Given the description of an element on the screen output the (x, y) to click on. 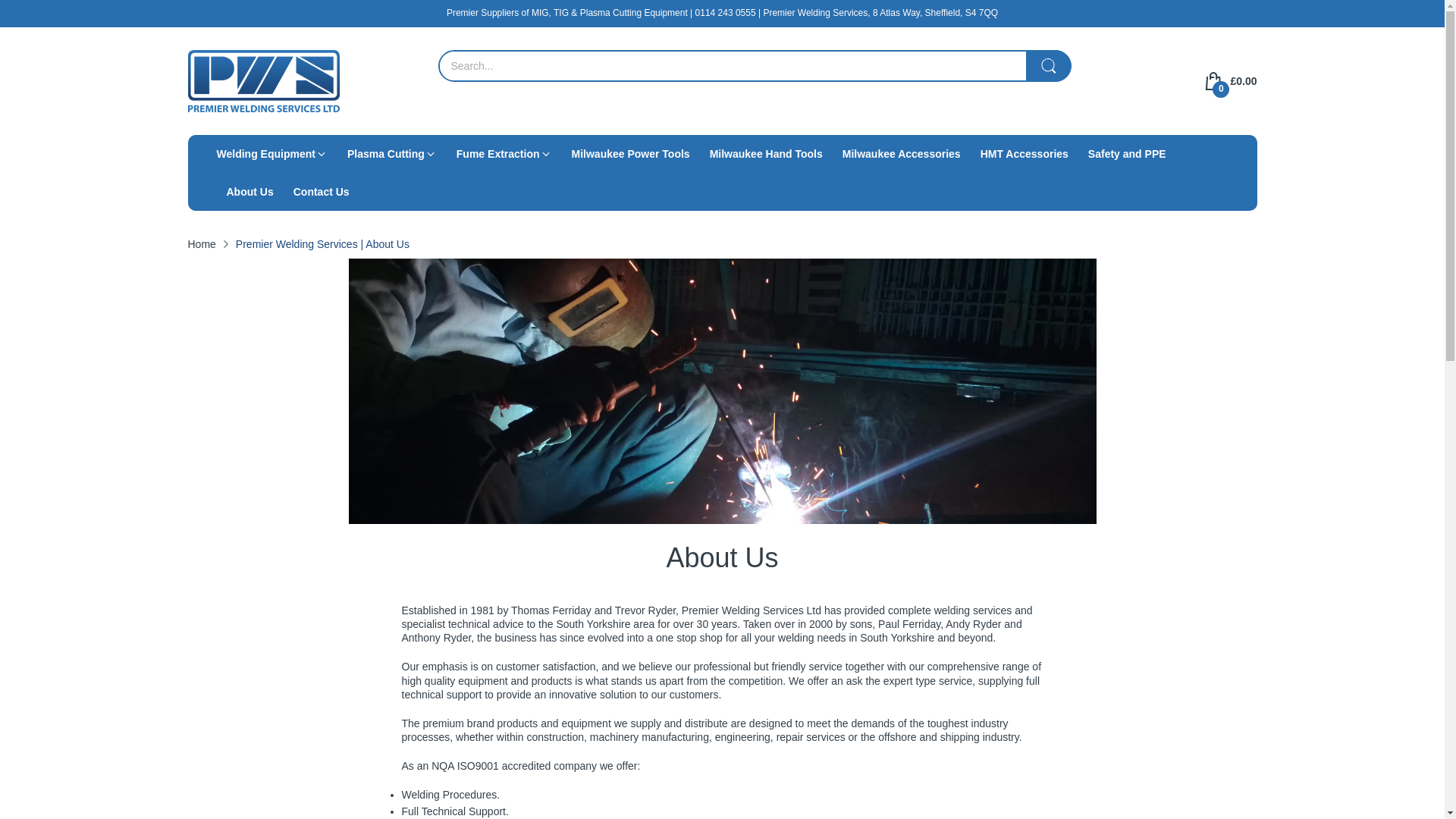
Fume Extraction (498, 153)
Milwaukee Accessories (901, 153)
Home (201, 244)
About Us (249, 191)
HMT Accessories (1023, 153)
Contact Us (321, 191)
Milwaukee Power Tools (631, 153)
Plasma Cutting (386, 153)
Safety and PPE (1126, 153)
Milwaukee Hand Tools (766, 153)
Welding Equipment (265, 153)
